Given the description of an element on the screen output the (x, y) to click on. 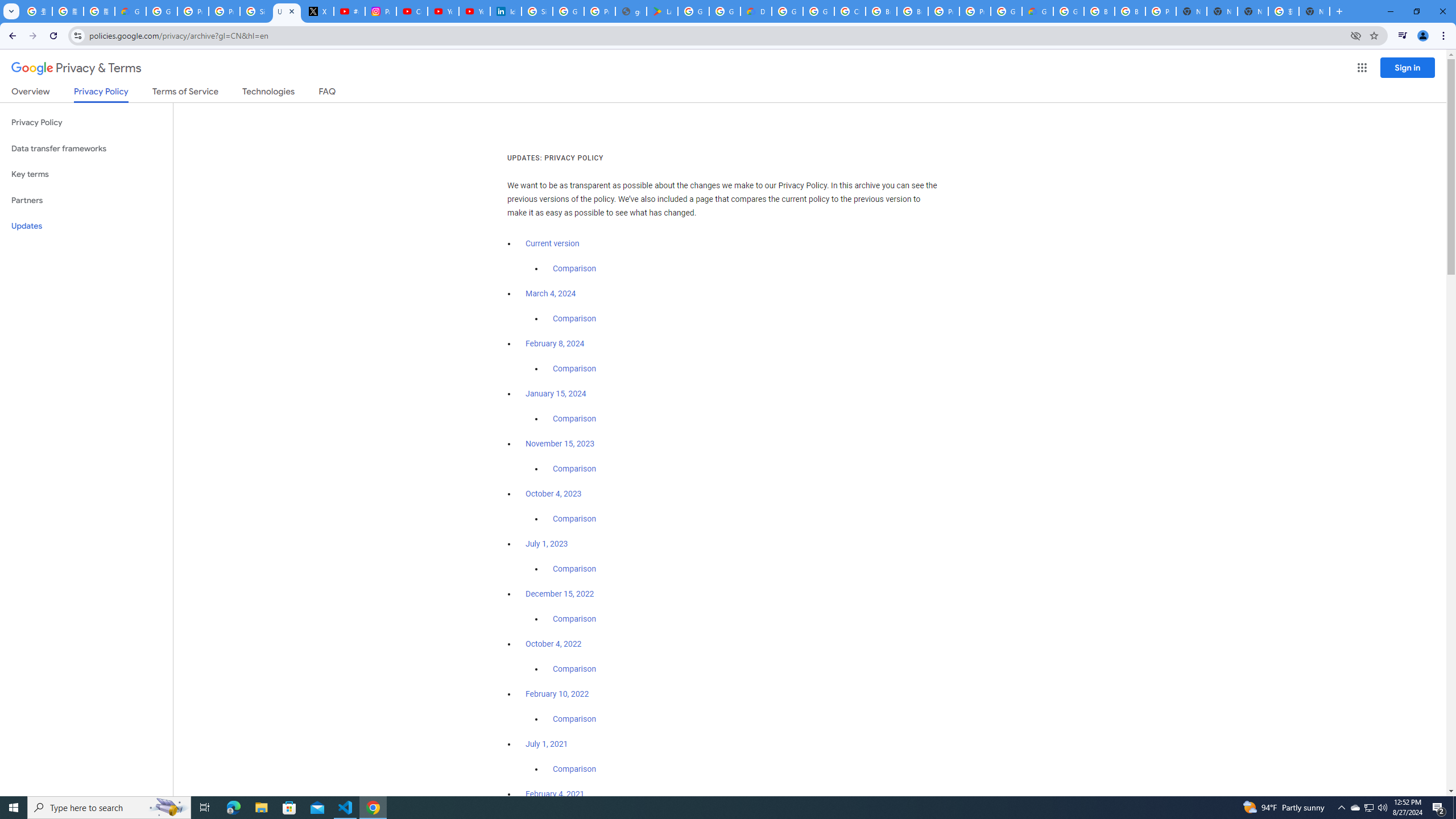
Google Cloud Privacy Notice (130, 11)
Browse Chrome as a guest - Computer - Google Chrome Help (1098, 11)
Comparison (574, 768)
December 15, 2022 (559, 593)
Google Cloud Platform (1068, 11)
X (318, 11)
